Given the description of an element on the screen output the (x, y) to click on. 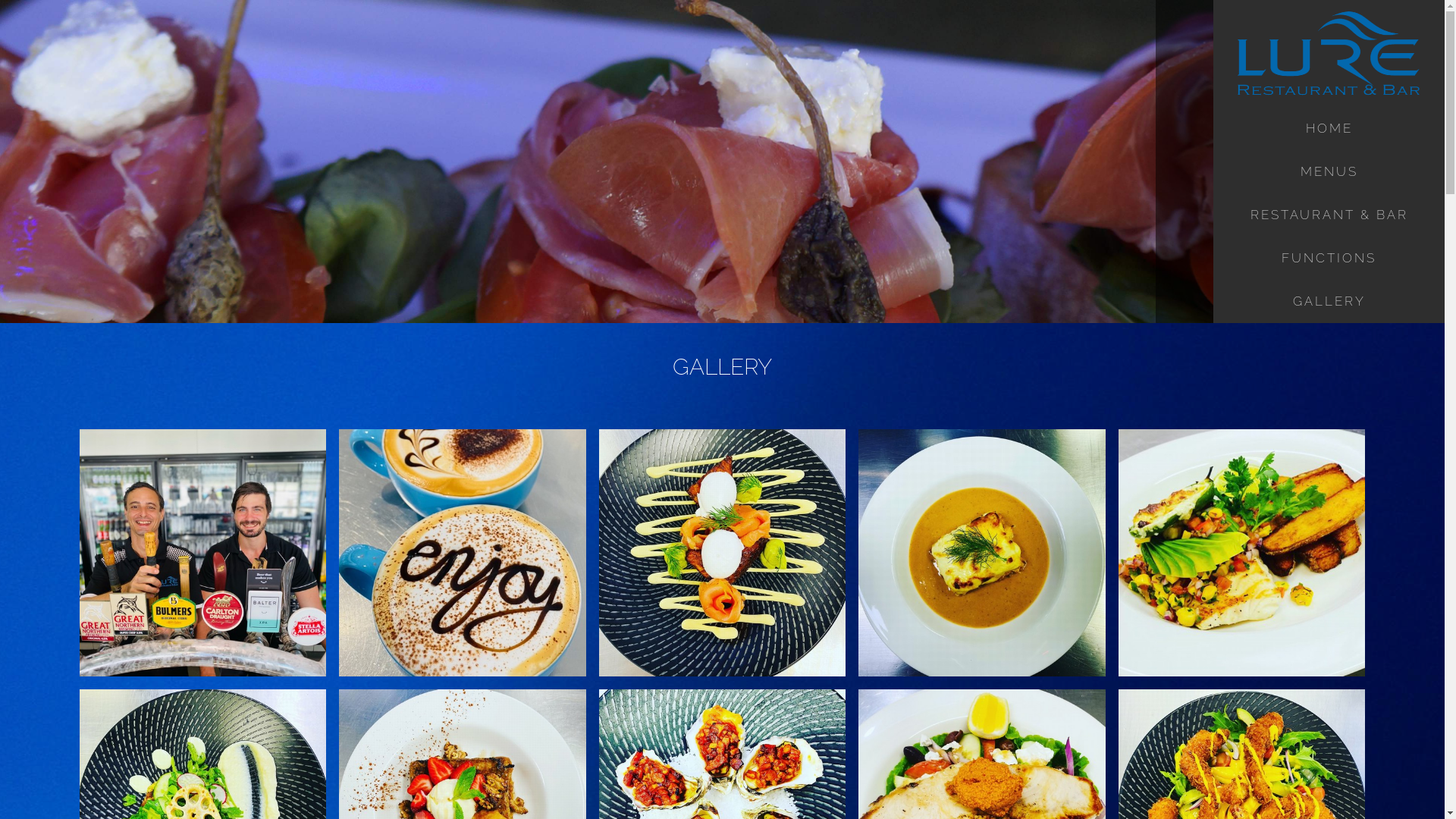
FUNCTIONS Element type: text (1328, 257)
MENUS Element type: text (1328, 171)
HOME Element type: text (1328, 128)
GALLERY Element type: text (1328, 301)
RESTAURANT & BAR Element type: text (1328, 214)
